Given the description of an element on the screen output the (x, y) to click on. 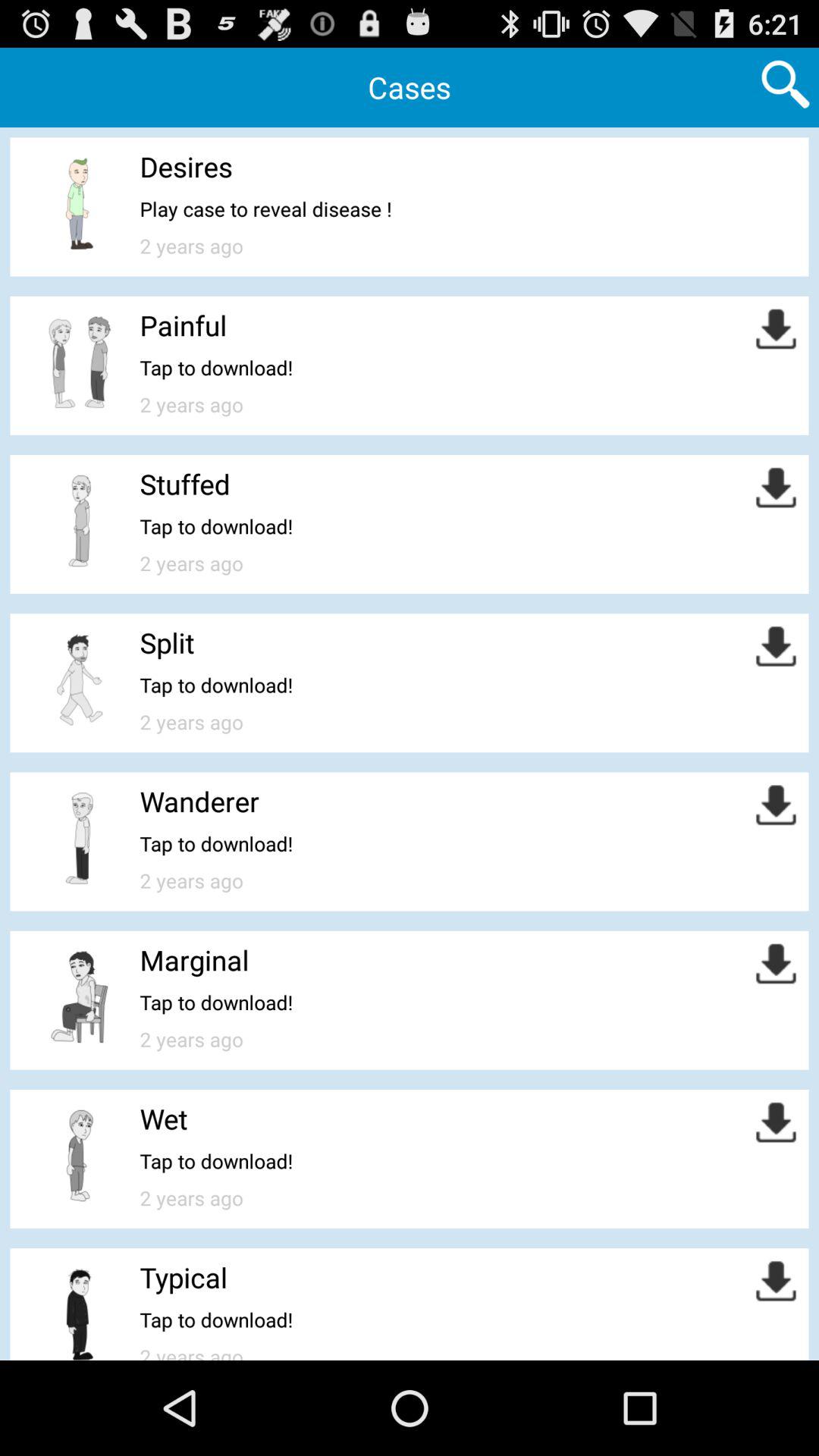
choose the app above 2 years ago (265, 208)
